Given the description of an element on the screen output the (x, y) to click on. 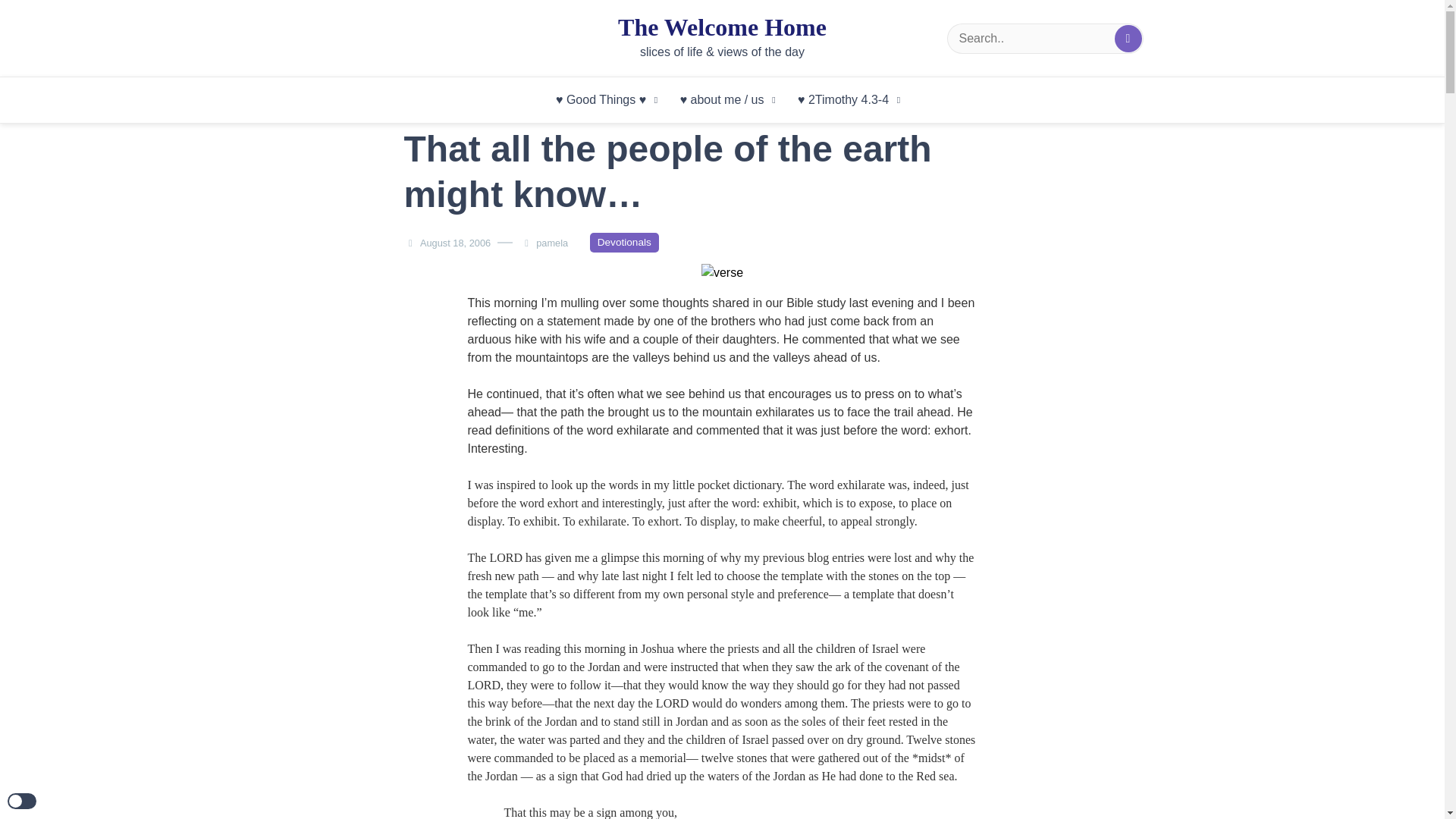
August 18, 2006 (455, 242)
Devotionals (624, 242)
The Welcome Home (722, 27)
pamela (555, 242)
verse (721, 272)
